Given the description of an element on the screen output the (x, y) to click on. 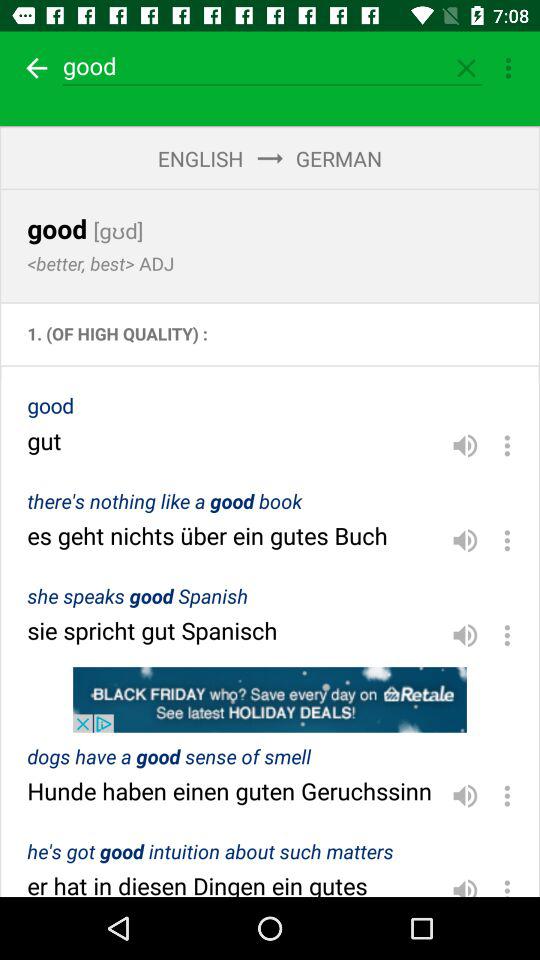
go to options (507, 445)
